Given the description of an element on the screen output the (x, y) to click on. 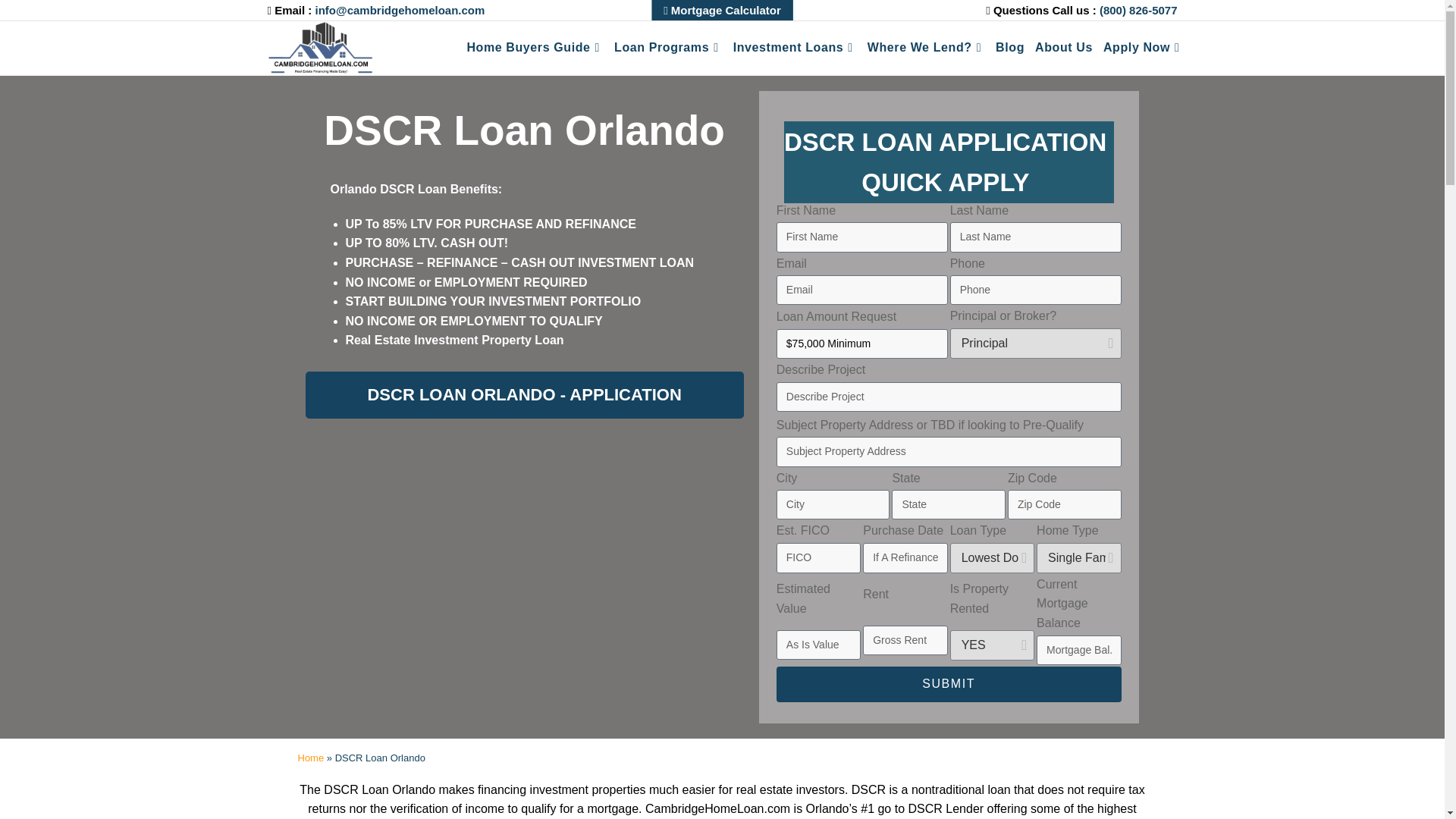
Investment Loans (794, 47)
Home Buyers Guide (534, 47)
Mortgage Calculator (721, 10)
Loan Programs (668, 47)
